Given the description of an element on the screen output the (x, y) to click on. 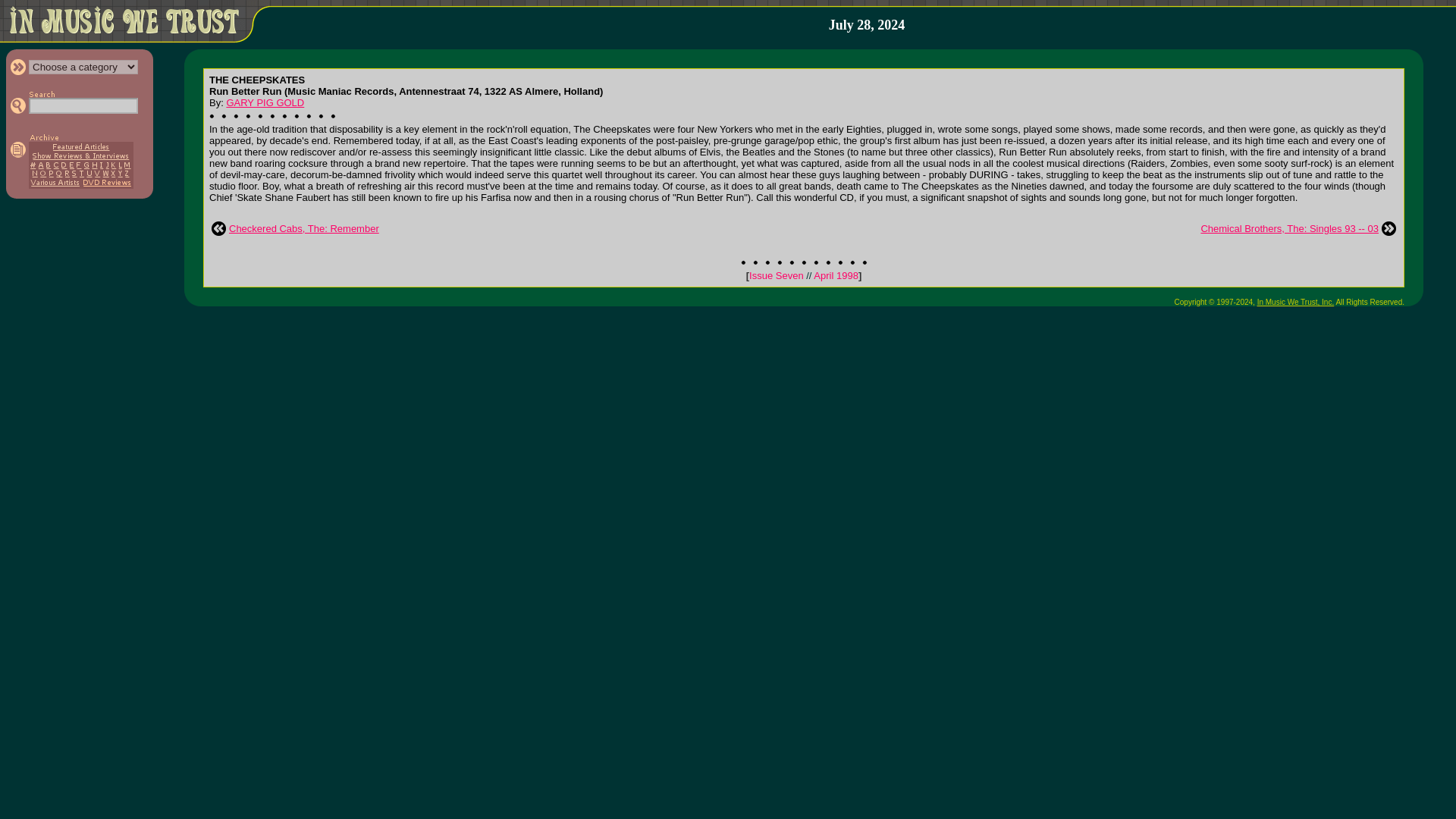
Chemical Brothers, The: Singles 93 -- 03 (1288, 228)
Checkered Cabs, The: Remember (303, 228)
GARY PIG GOLD (264, 102)
July 28, 2024 (866, 24)
In Music We Trust, Inc. (1296, 302)
